Given the description of an element on the screen output the (x, y) to click on. 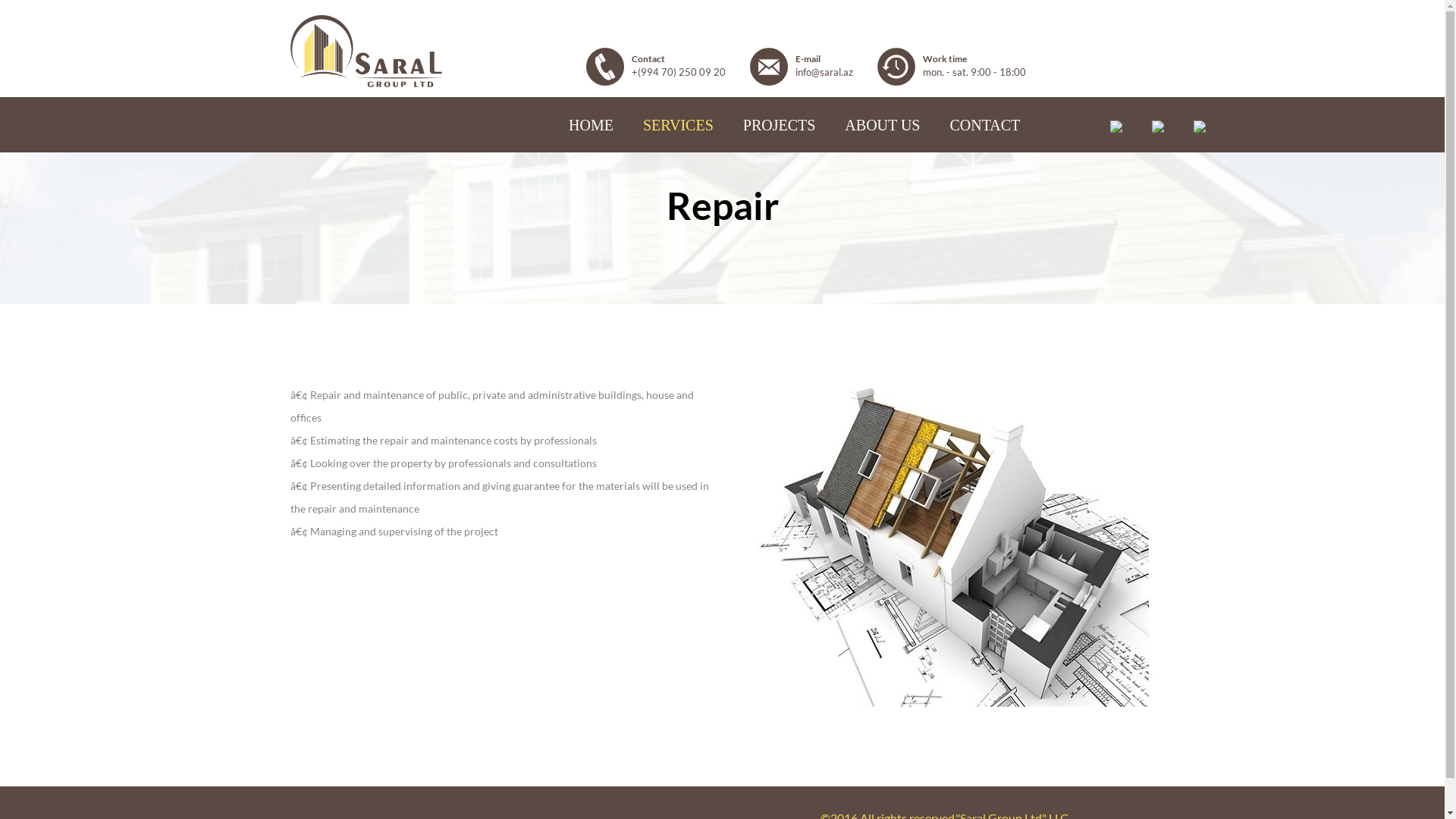
CONTACT Element type: text (984, 124)
ABOUT US Element type: text (881, 124)
SERVICES Element type: text (678, 124)
PROJECTS Element type: text (779, 124)
HOME Element type: text (590, 124)
info@saral.az Element type: text (823, 71)
LiveInternet Element type: hover (0, 775)
